Given the description of an element on the screen output the (x, y) to click on. 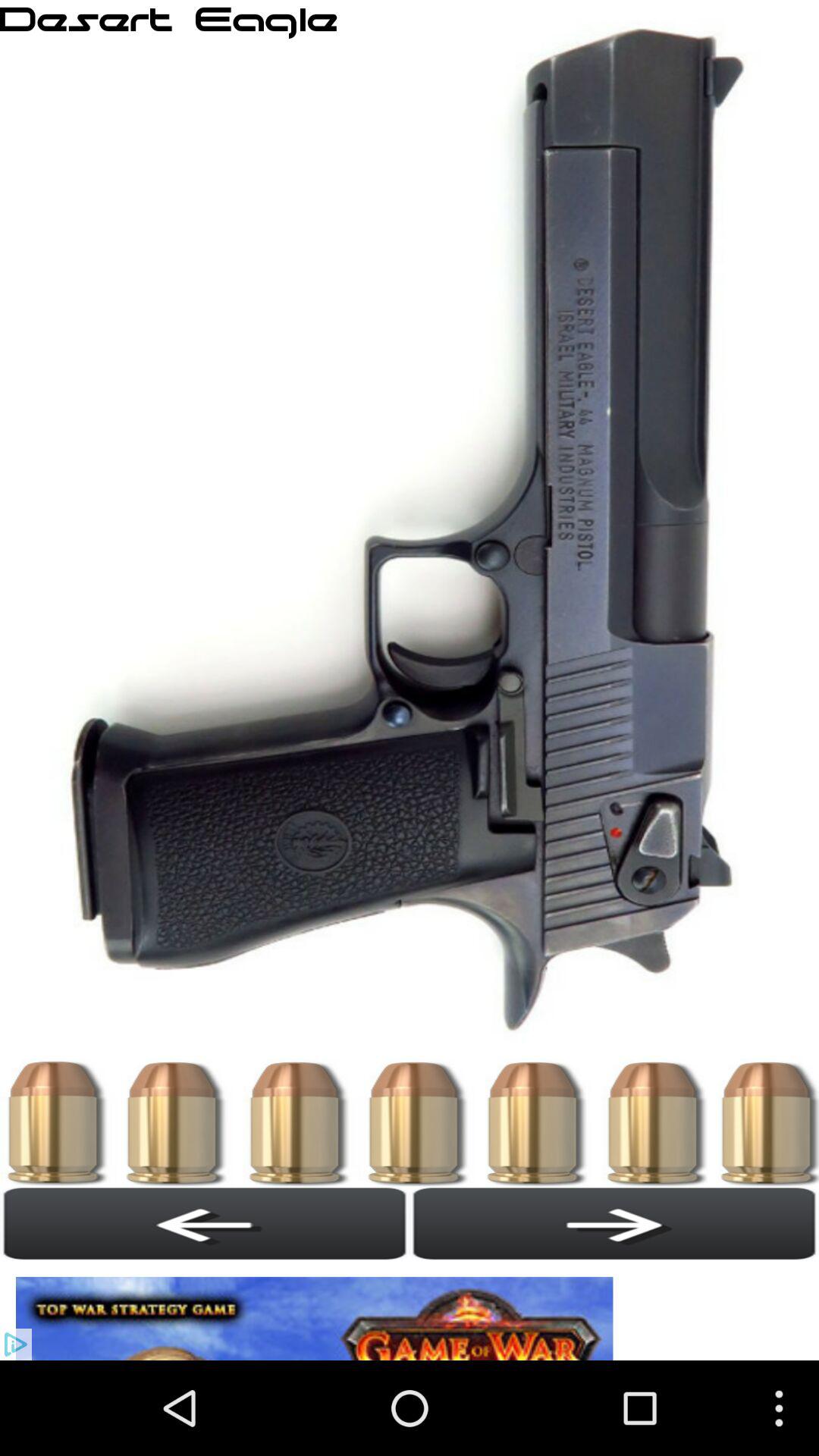
go back (614, 1223)
